Given the description of an element on the screen output the (x, y) to click on. 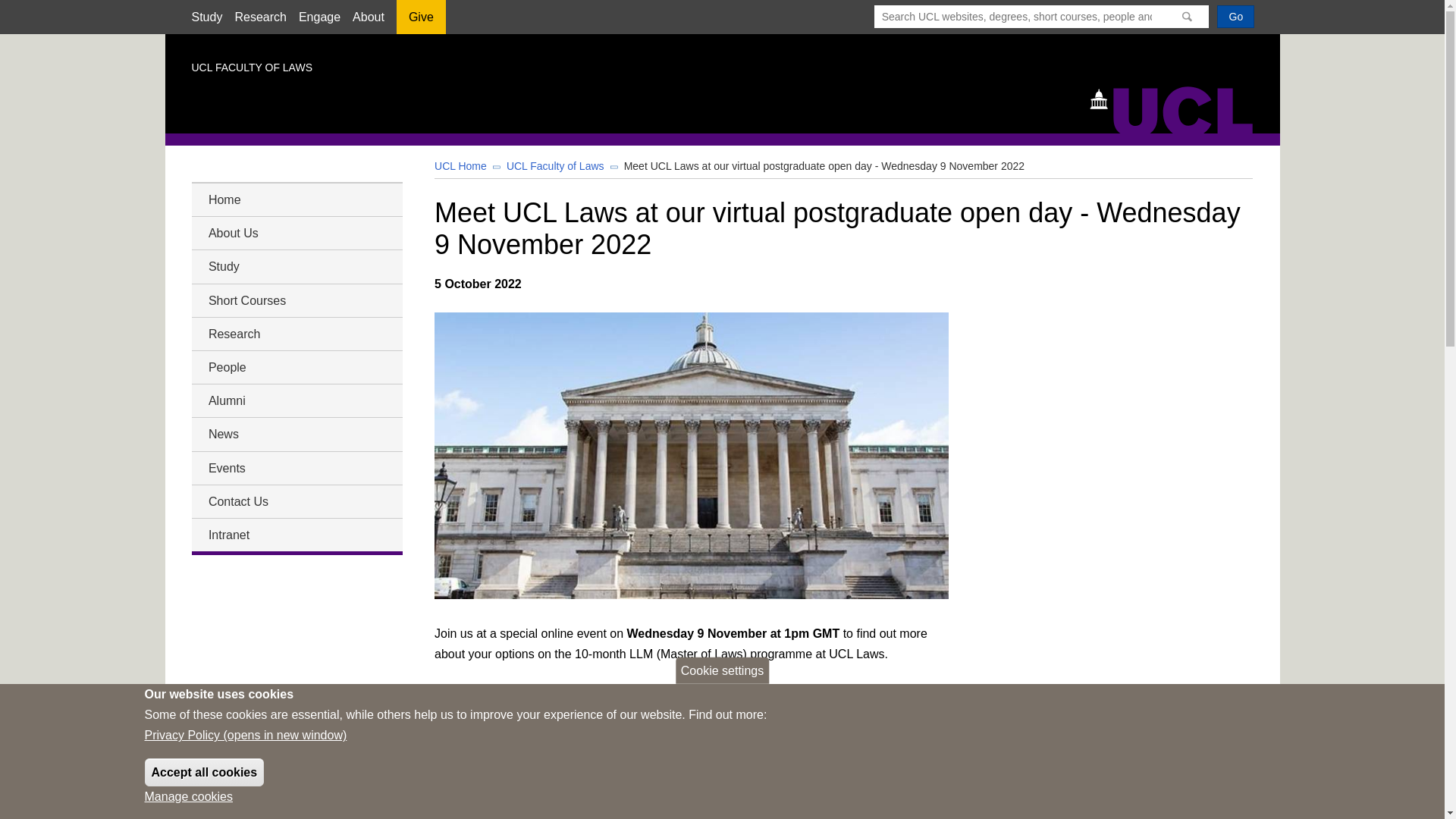
Research (296, 333)
Research (259, 16)
Study (206, 16)
Go (1235, 15)
Go (1235, 15)
Study (296, 266)
Engage (319, 16)
Home (296, 199)
People (296, 367)
Home (1178, 108)
Give (420, 22)
About (368, 16)
Short Courses (296, 300)
Go (1235, 15)
Alumni (296, 400)
